Given the description of an element on the screen output the (x, y) to click on. 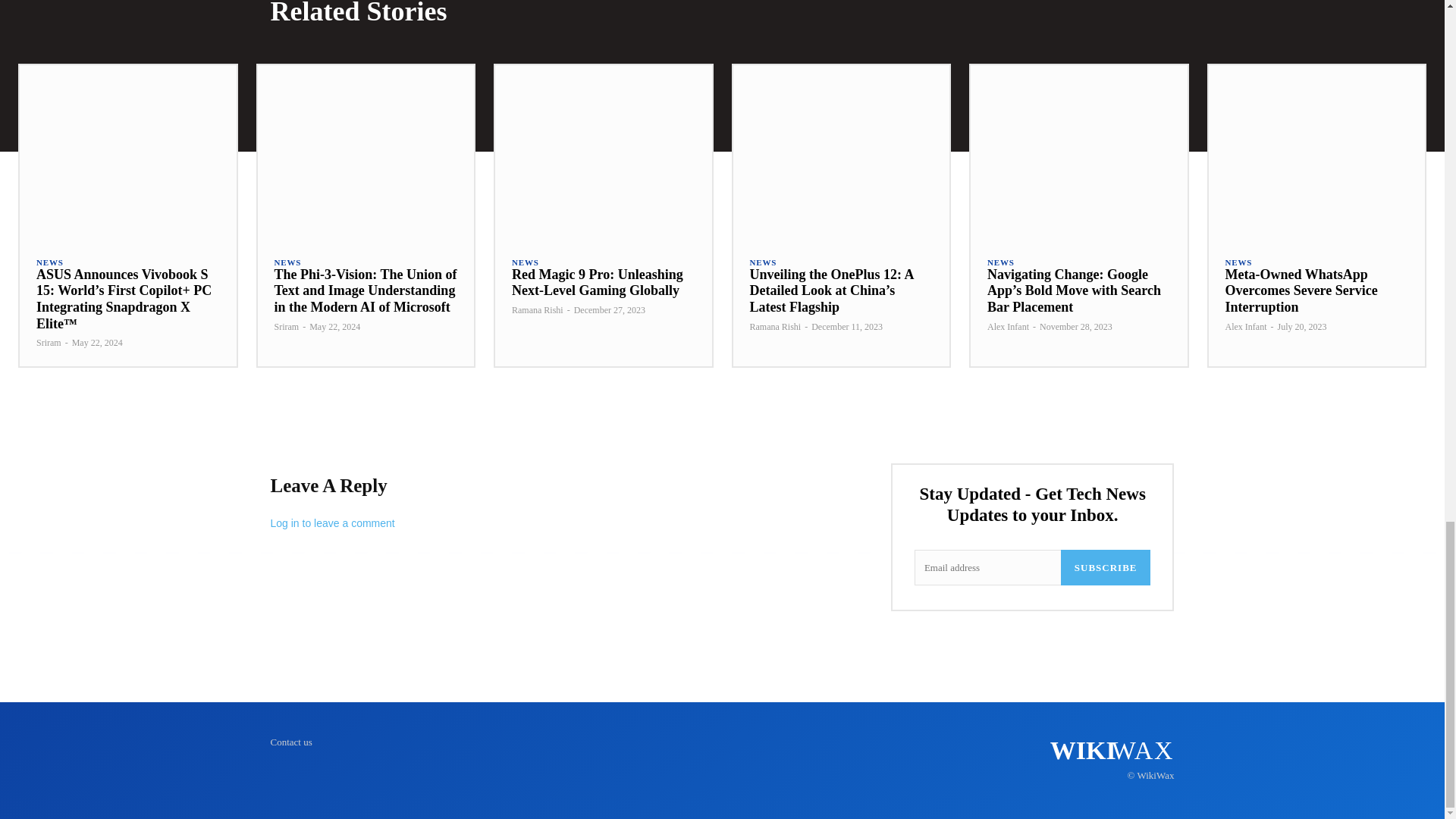
Red Magic 9 Pro: Unleashing Next-Level Gaming Globally (603, 151)
Meta-Owned WhatsApp Overcomes Severe Service Interruption (1301, 290)
Meta-Owned WhatsApp Overcomes Severe Service Interruption (1316, 151)
Red Magic 9 Pro: Unleashing Next-Level Gaming Globally (597, 282)
